Given the description of an element on the screen output the (x, y) to click on. 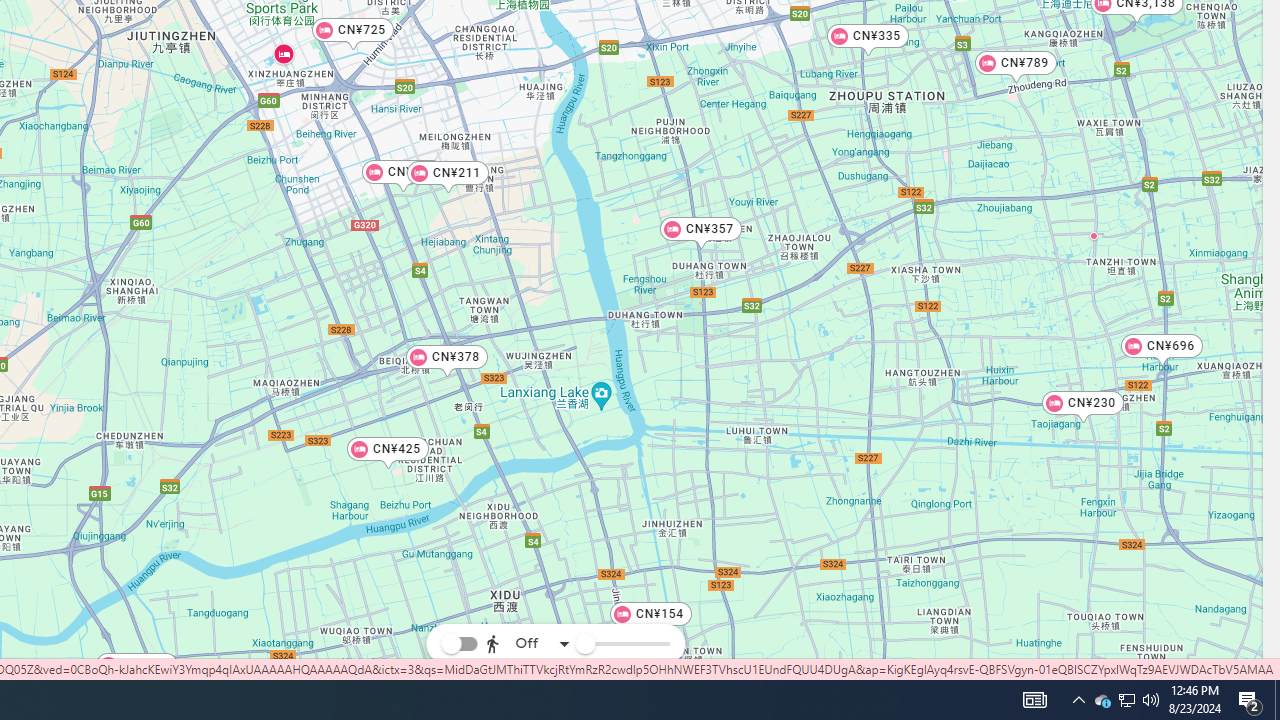
Hanting Premium Hotel Shanghai Xinzhuang Business (283, 53)
Reachability slider (584, 644)
Keyboard shortcuts (981, 673)
